Given the description of an element on the screen output the (x, y) to click on. 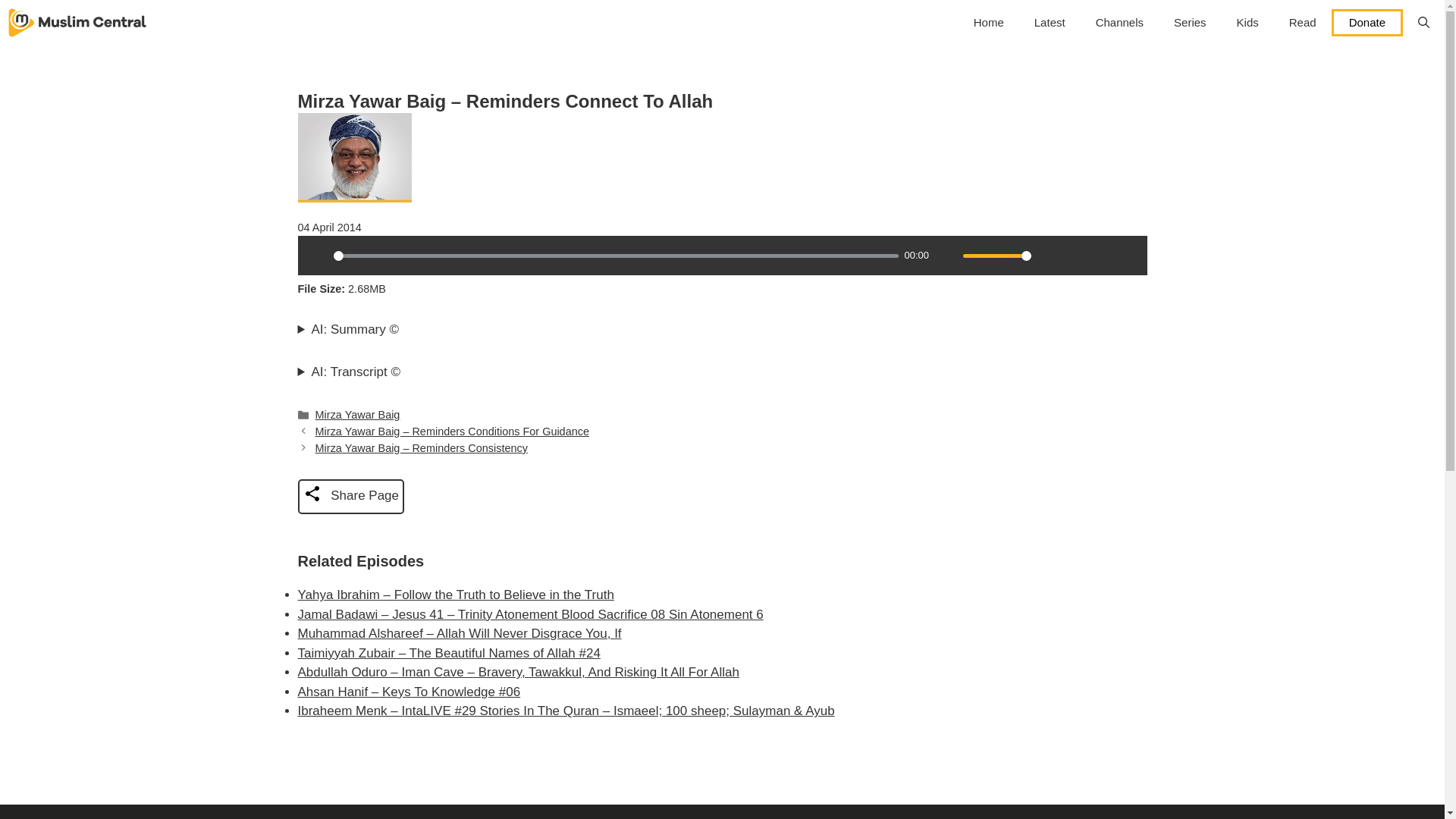
Rewind 10s (1101, 255)
Play (316, 255)
Read (1303, 22)
Series (1189, 22)
Settings (1048, 255)
Forward 10s (1126, 255)
Kids (1247, 22)
Home (988, 22)
1 (996, 255)
Mirza Yawar Baig (357, 414)
